Given the description of an element on the screen output the (x, y) to click on. 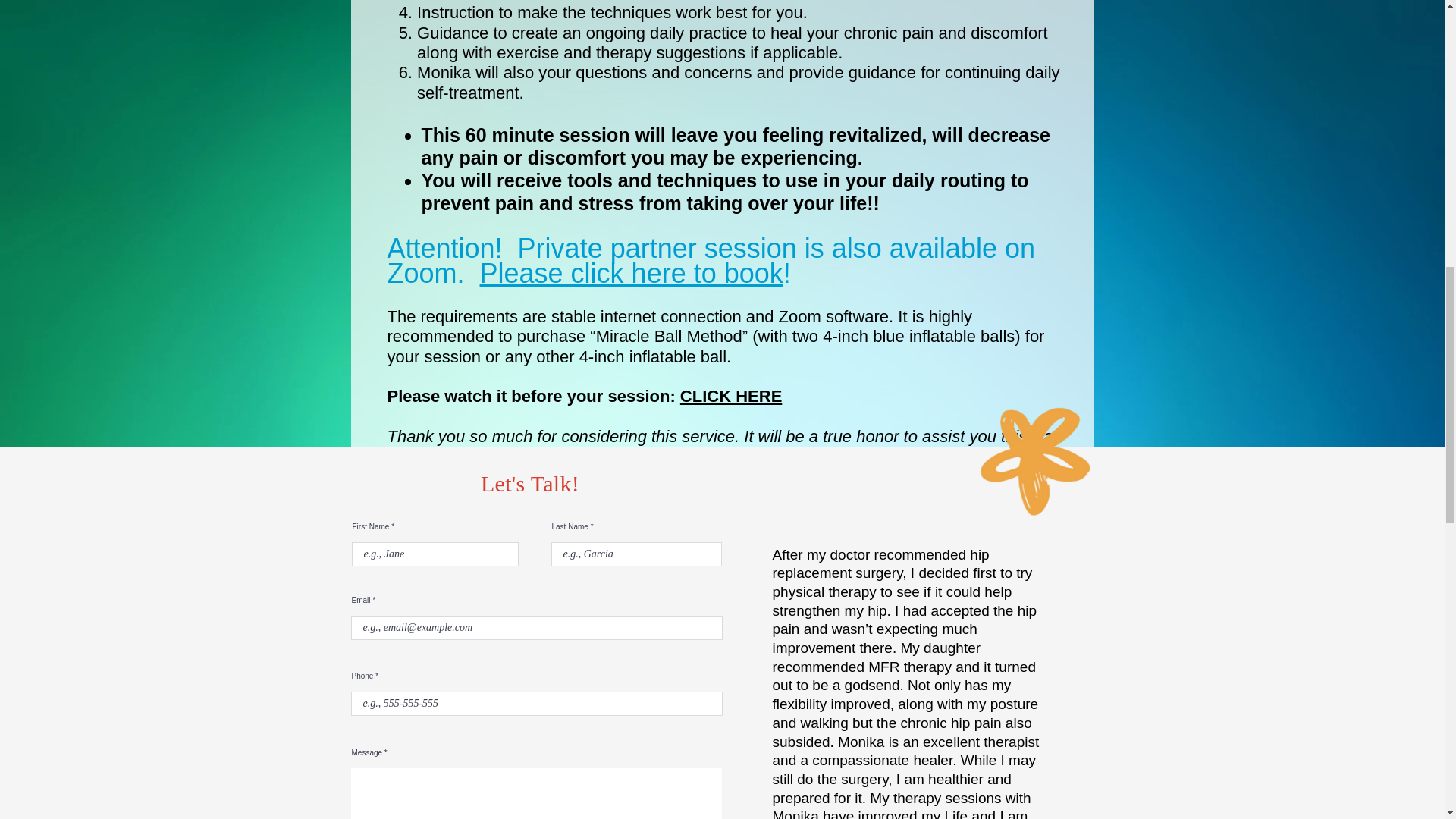
Please click here to book (631, 273)
CLICK HERE (730, 395)
